Given the description of an element on the screen output the (x, y) to click on. 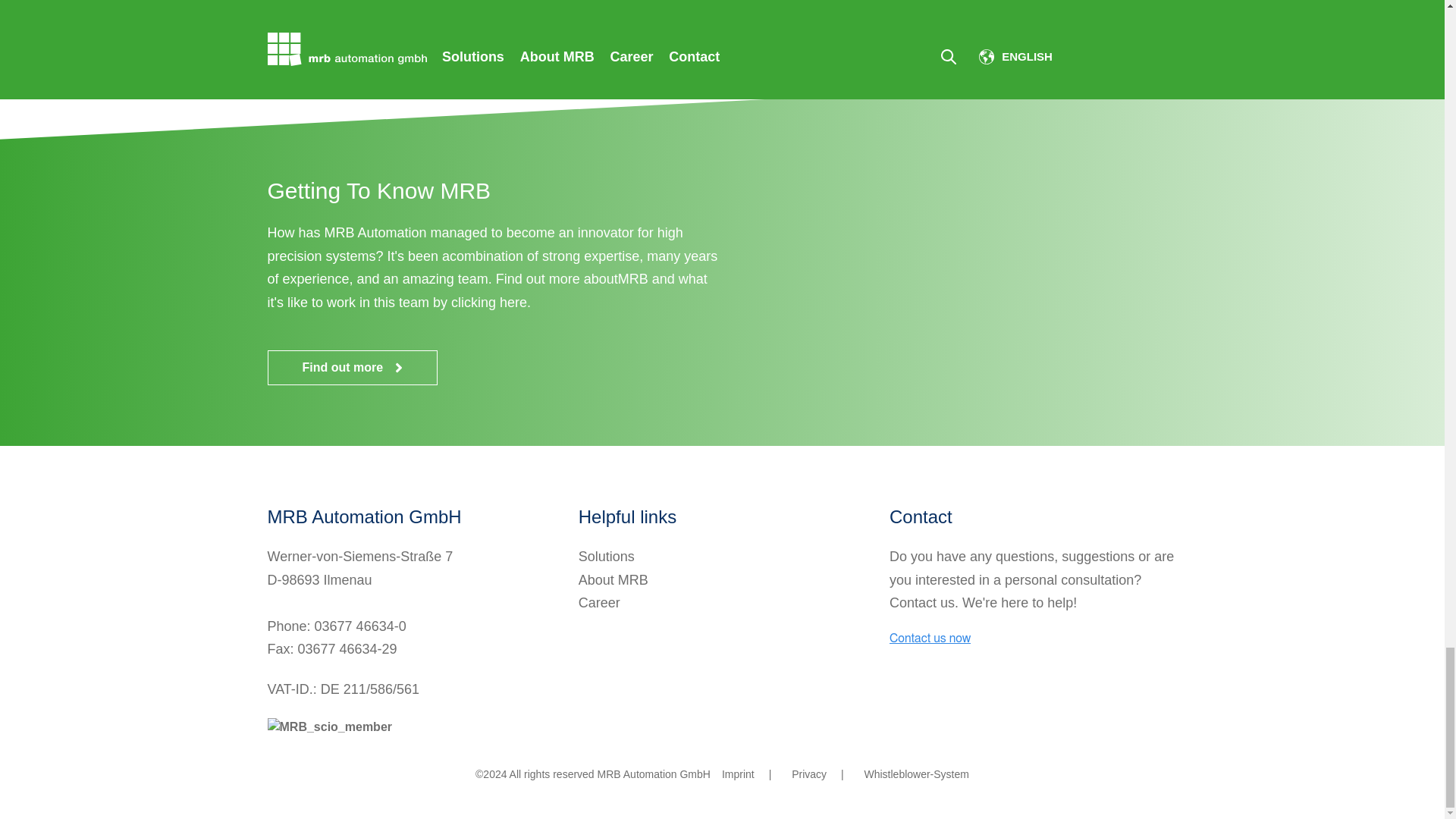
Privacy (809, 774)
Find out more (352, 367)
Imprint (738, 774)
Whistleblower-System (915, 774)
03677 46634-0 (360, 626)
Career (599, 602)
Solutions (606, 556)
About MRB (612, 580)
